Given the description of an element on the screen output the (x, y) to click on. 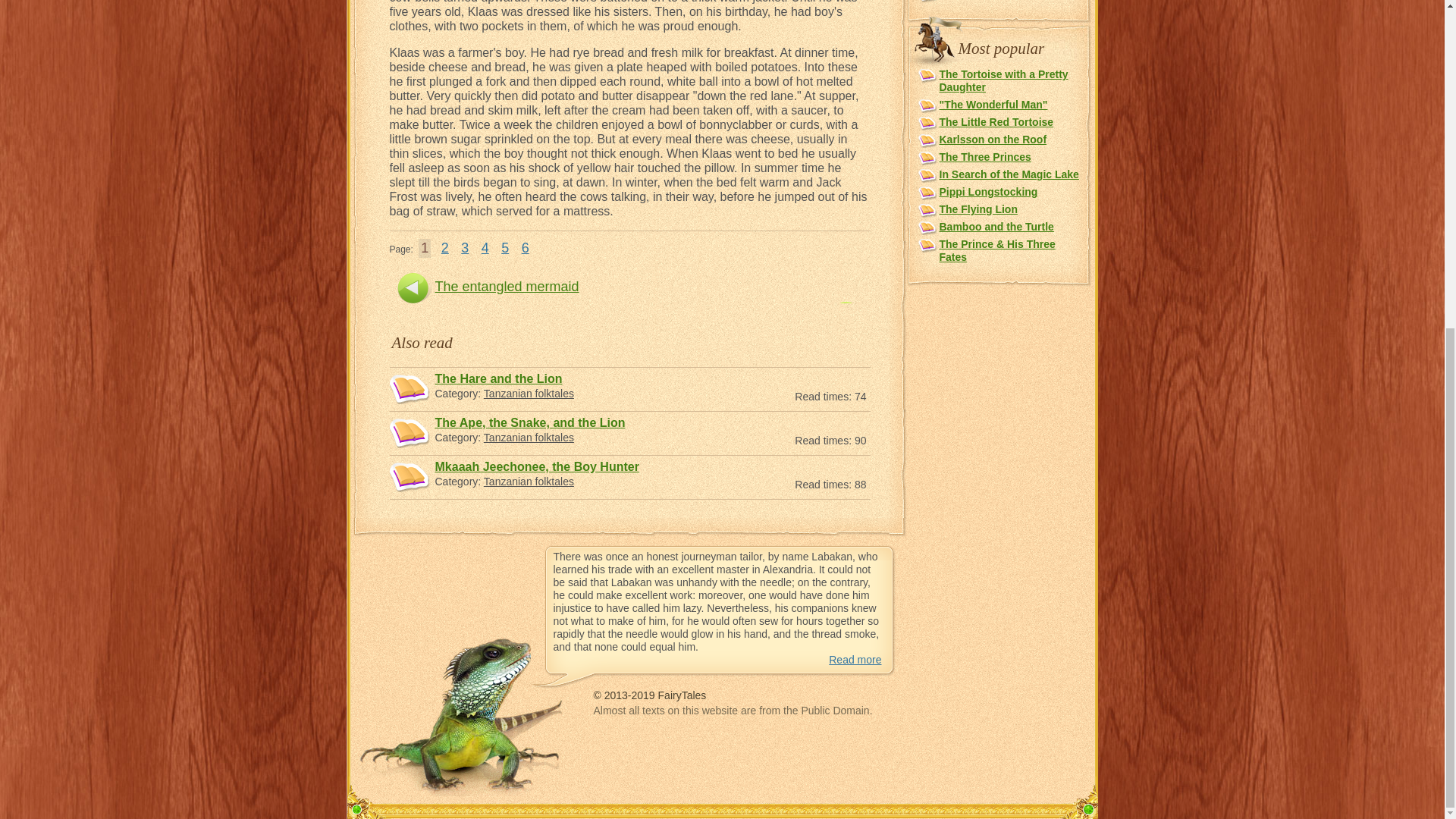
The Tortoise with a Pretty Daughter (1003, 80)
LiveInternet (892, 736)
The princess with twenty petticoats (718, 314)
Pippi Longstocking (987, 191)
The Three Princes (984, 156)
The entangled mermaid (507, 286)
The Flying Lion (977, 209)
Bamboo and the Turtle (995, 226)
Karlsson on the Roof (992, 139)
The Little Red Tortoise (995, 121)
"The Wonderful Man" (992, 104)
In Search of the Magic Lake (1008, 174)
